Given the description of an element on the screen output the (x, y) to click on. 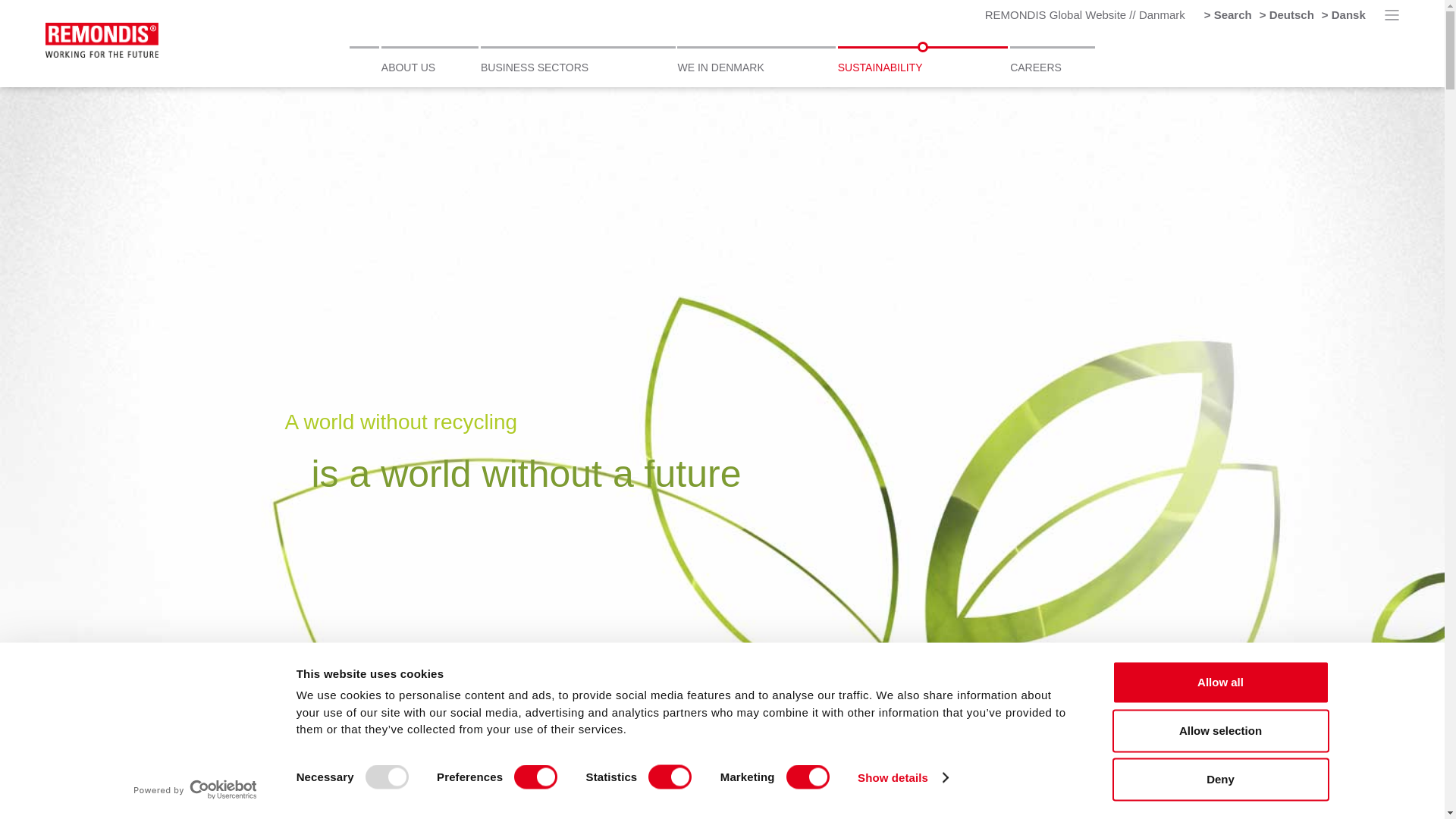
Allow all (1219, 682)
Deny (1219, 779)
Show details (902, 777)
Allow selection (1219, 731)
